Given the description of an element on the screen output the (x, y) to click on. 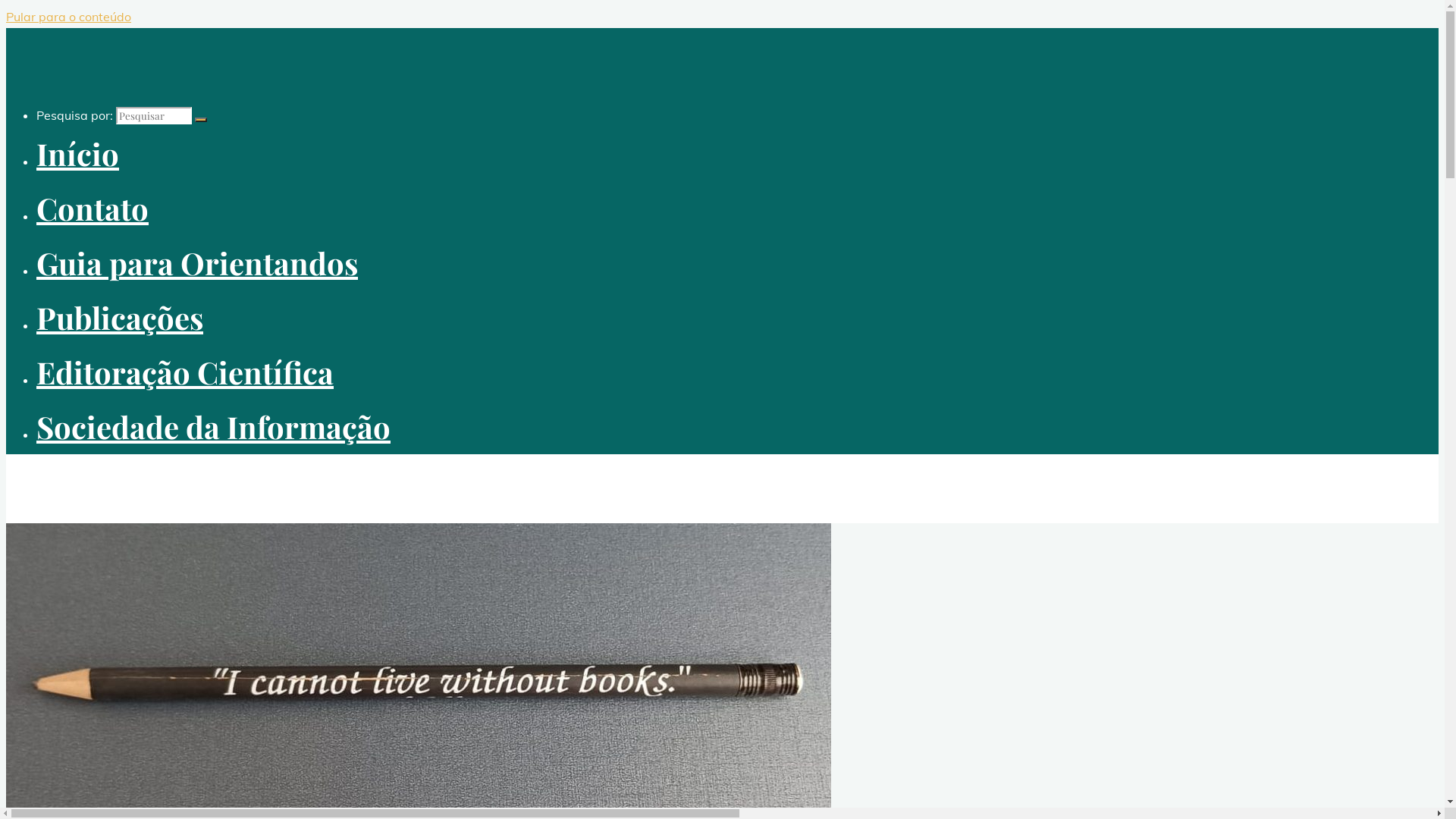
Guia para Orientandos Element type: text (101, 790)
Contato Element type: text (58, 676)
Contato Element type: text (92, 208)
enriquemuriel.com Element type: text (76, 479)
Guia para Orientandos Element type: text (196, 262)
